Given the description of an element on the screen output the (x, y) to click on. 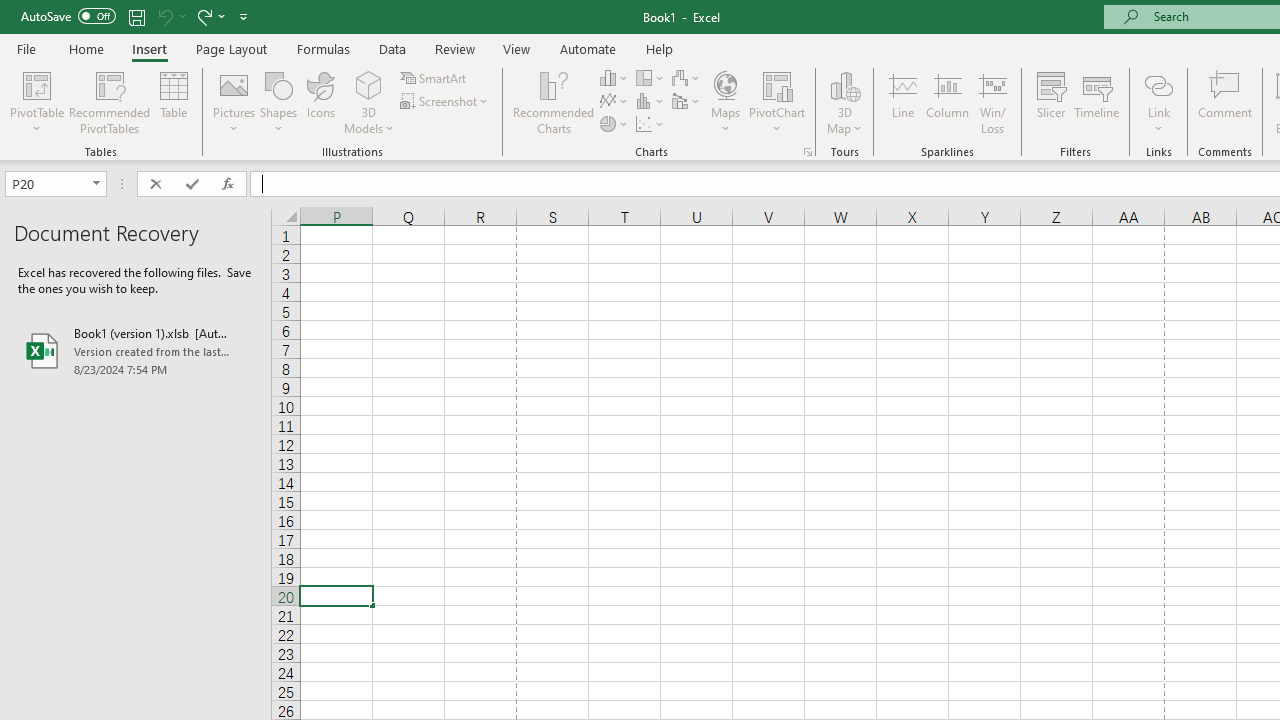
Data (392, 48)
Link (1158, 102)
Link (1158, 84)
Undo (164, 15)
AutoSave (68, 16)
Pictures (234, 102)
Name Box (56, 183)
Insert (149, 48)
Formulas (323, 48)
SmartArt... (434, 78)
Book1 (version 1).xlsb  [AutoRecovered] (136, 350)
Insert Combo Chart (687, 101)
Maps (726, 102)
Name Box (46, 183)
Timeline (1097, 102)
